Given the description of an element on the screen output the (x, y) to click on. 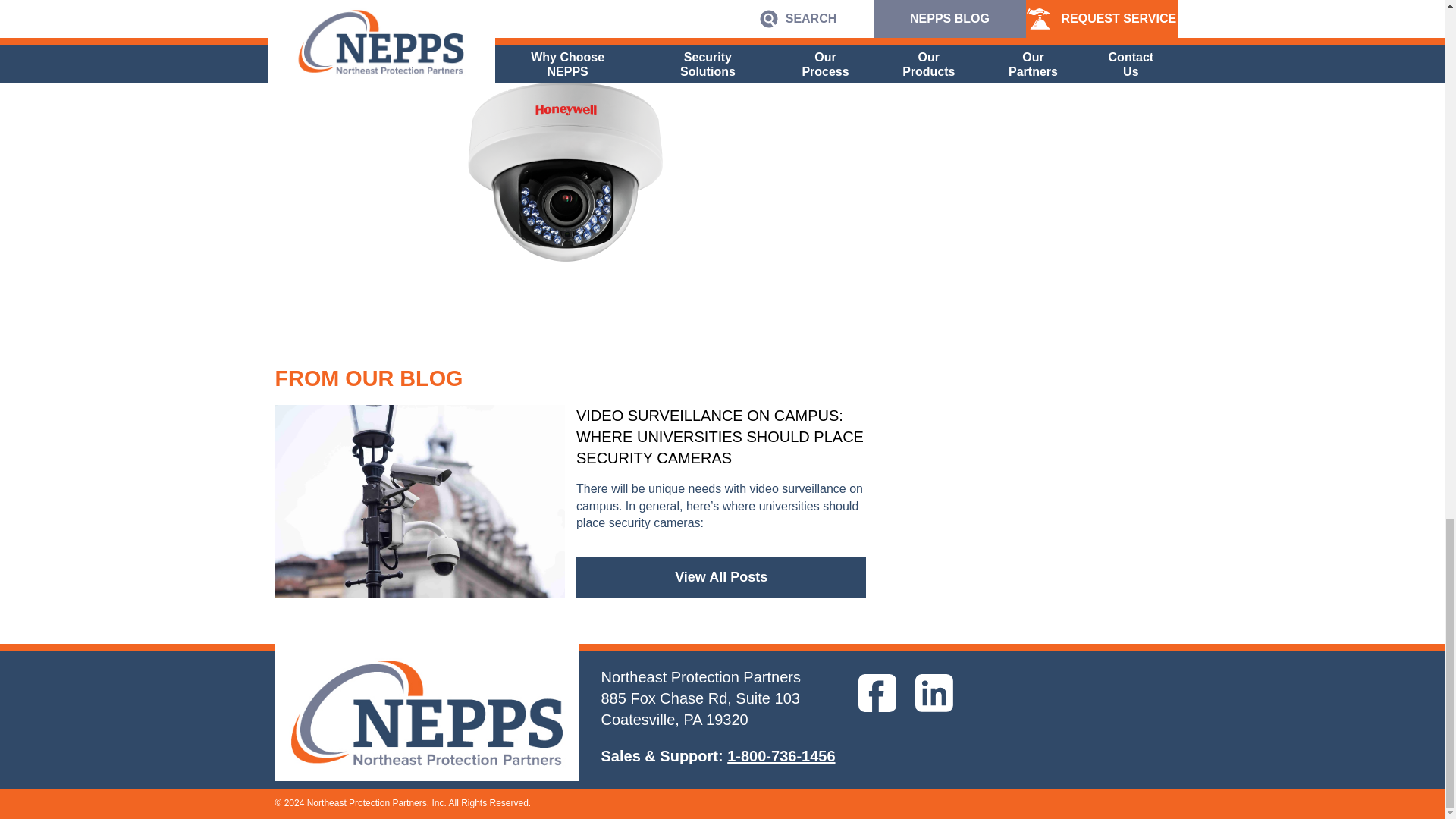
linkedin (933, 695)
View All Posts (721, 577)
linkedin (934, 692)
facebook (877, 692)
facebook (877, 695)
1-800-736-1456 (780, 755)
